Given the description of an element on the screen output the (x, y) to click on. 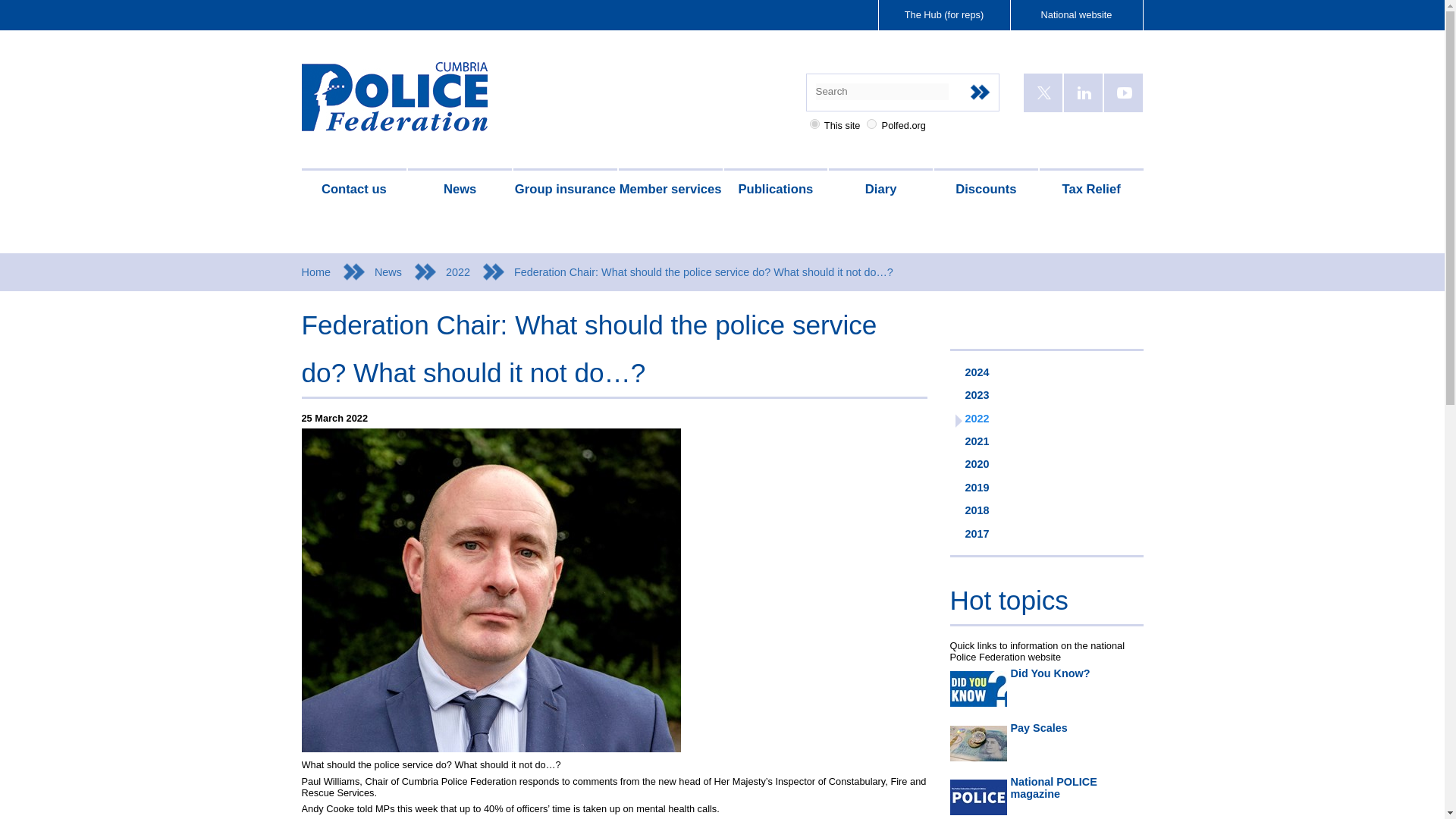
News (459, 189)
Group insurance (565, 189)
Discounts (986, 189)
2022 (1045, 417)
2022 (479, 272)
2023 (1045, 395)
2024 (1045, 372)
Contact us (354, 189)
Publications (775, 189)
Tax Relief (1090, 189)
News (409, 272)
Member services (670, 189)
Diary (880, 189)
National website (1076, 15)
0 (814, 123)
